Given the description of an element on the screen output the (x, y) to click on. 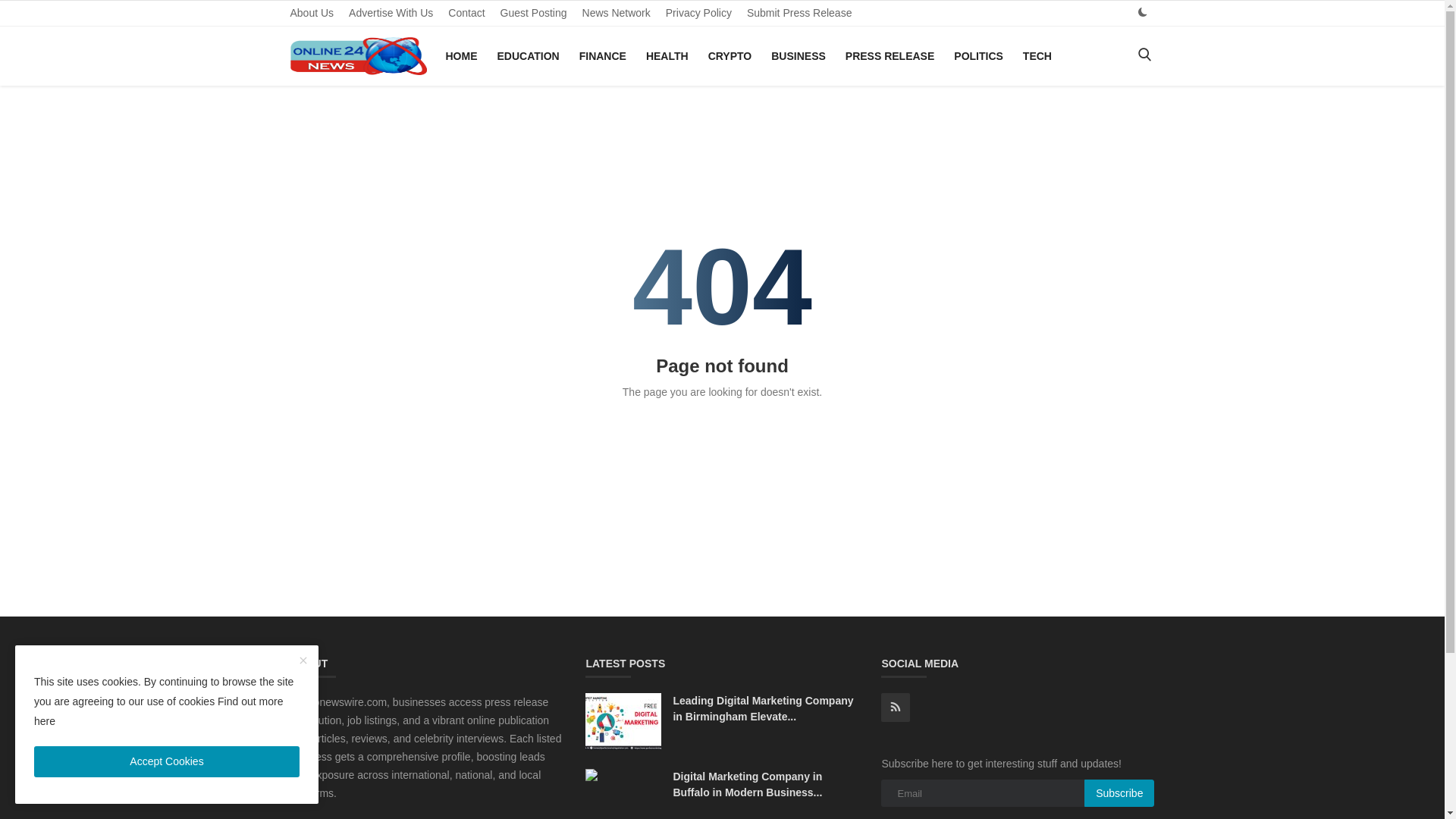
EDUCATION (528, 55)
FINANCE (602, 55)
dark (1141, 12)
HEALTH (667, 55)
Privacy Policy (698, 13)
About Us (311, 13)
News Network (616, 13)
Submit Press Release (799, 13)
BUSINESS (797, 55)
POLITICS (978, 55)
